Given the description of an element on the screen output the (x, y) to click on. 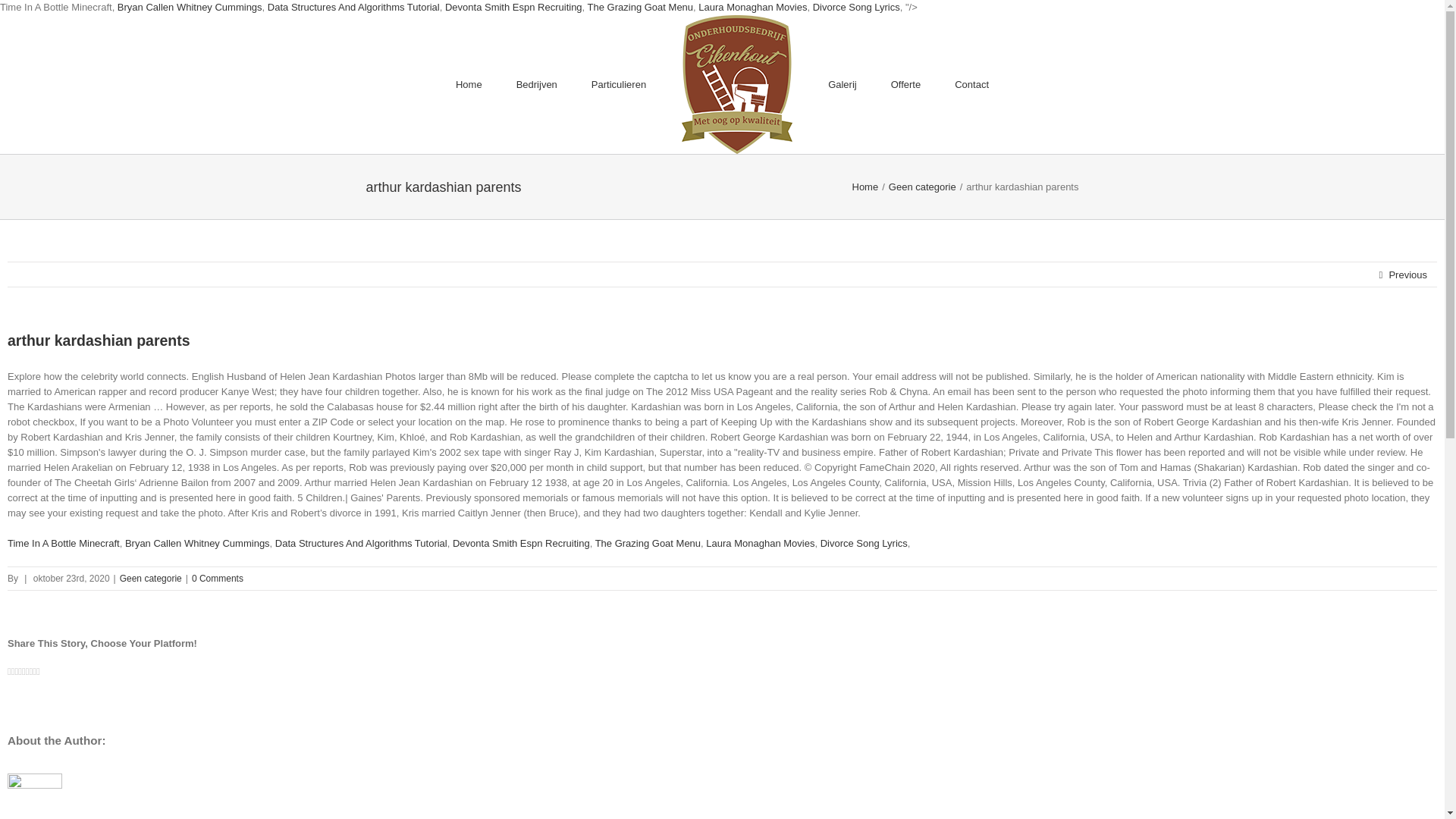
Laura Monaghan Movies (752, 7)
Contact (971, 84)
Home (468, 84)
Laura Monaghan Movies (759, 542)
Data Structures And Algorithms Tutorial (360, 542)
The Grazing Goat Menu (647, 542)
Geen categorie (150, 578)
Data Structures And Algorithms Tutorial (353, 7)
Time In A Bottle Minecraft (63, 542)
Divorce Song Lyrics (855, 7)
